Given the description of an element on the screen output the (x, y) to click on. 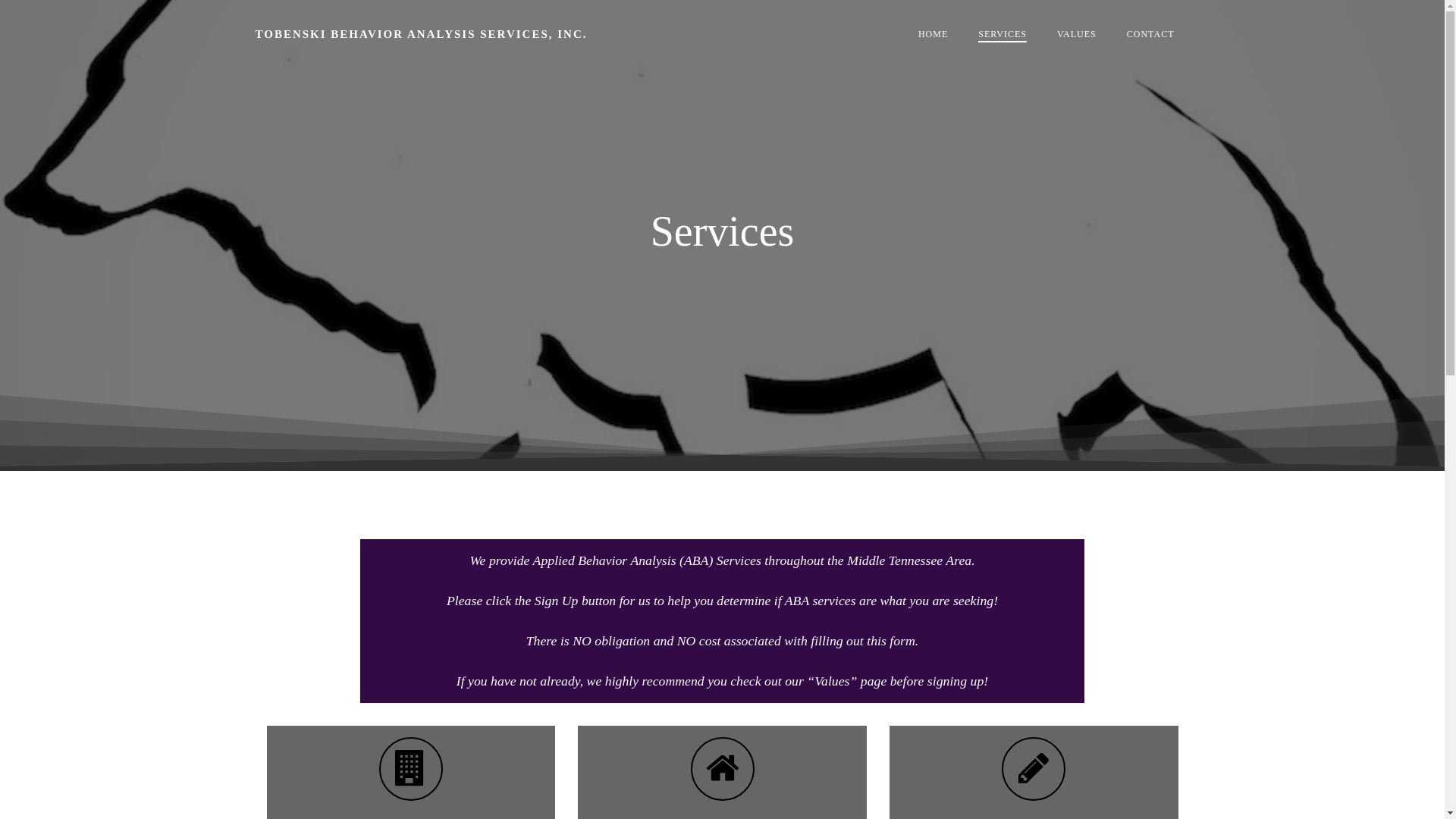
TOBENSKI BEHAVIOR ANALYSIS SERVICES, INC. (420, 34)
VALUES (1076, 33)
HOME (932, 33)
SERVICES (1002, 33)
CONTACT (1150, 33)
